Given the description of an element on the screen output the (x, y) to click on. 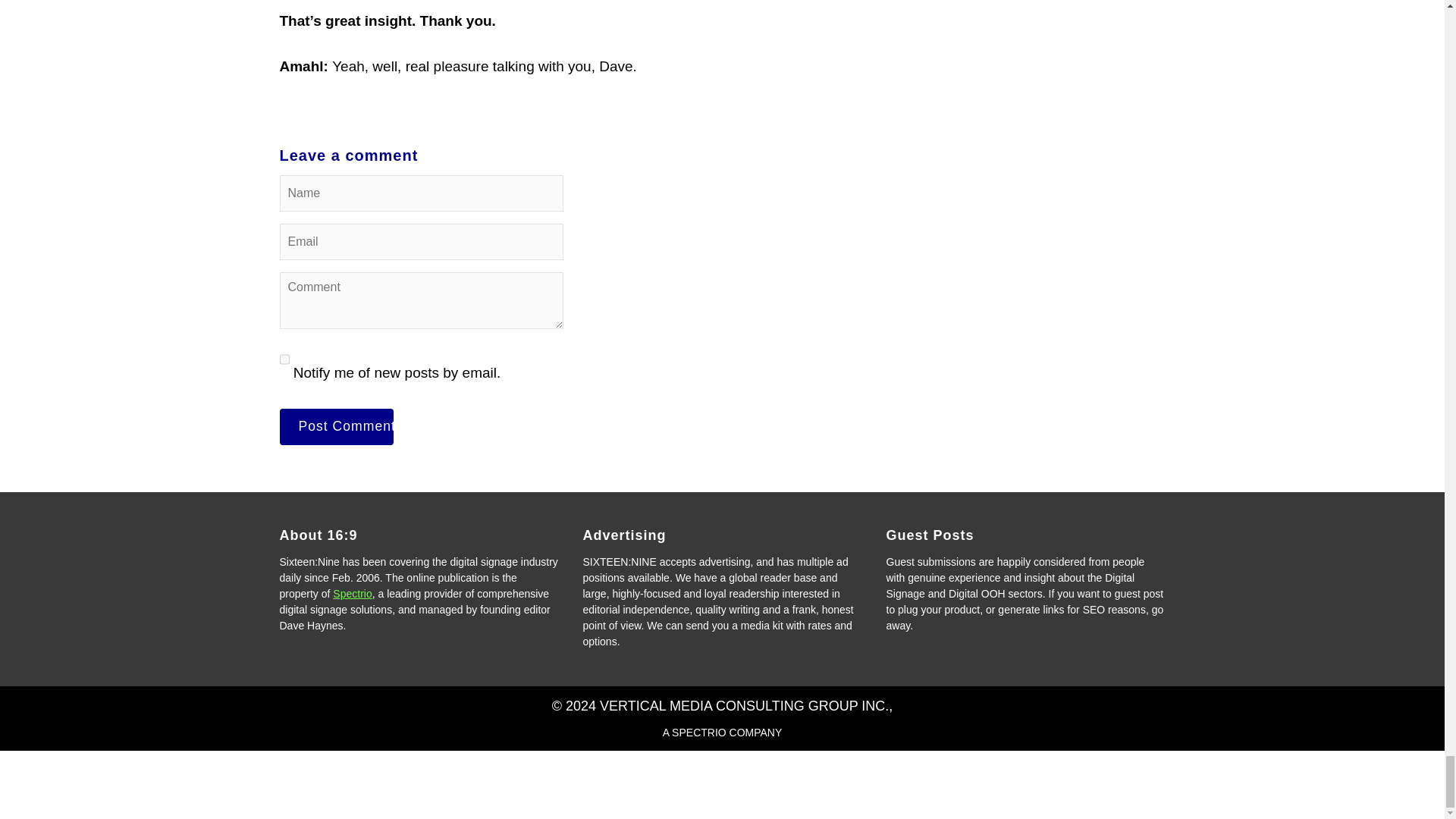
Spectrio (352, 593)
Post Comment (336, 426)
A SPECTRIO COMPANY (721, 732)
Post Comment (336, 426)
